Given the description of an element on the screen output the (x, y) to click on. 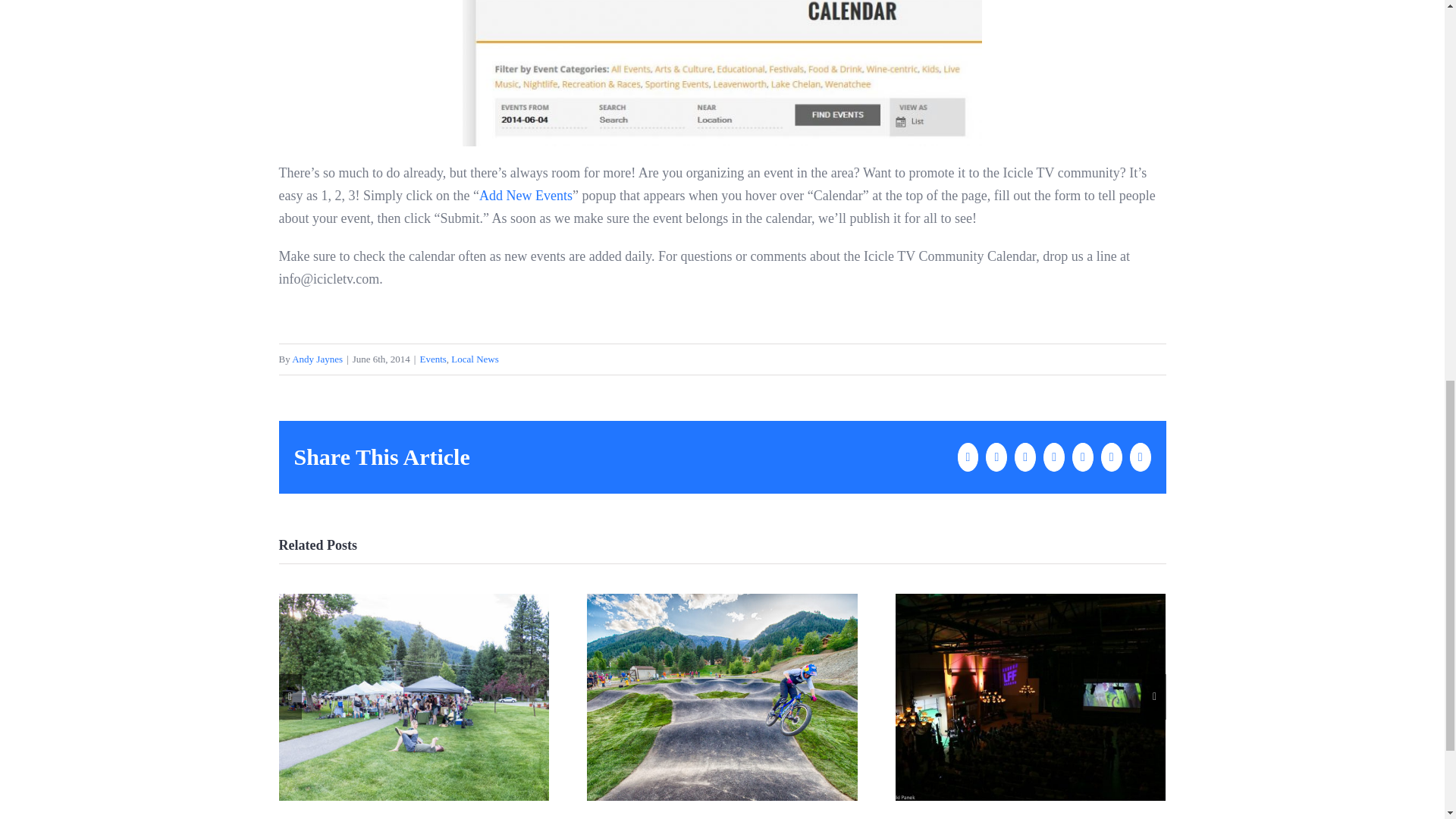
Add New Events (525, 195)
Posts by Andy Jaynes (317, 358)
Events (432, 358)
Andy Jaynes (317, 358)
Local News (474, 358)
